Given the description of an element on the screen output the (x, y) to click on. 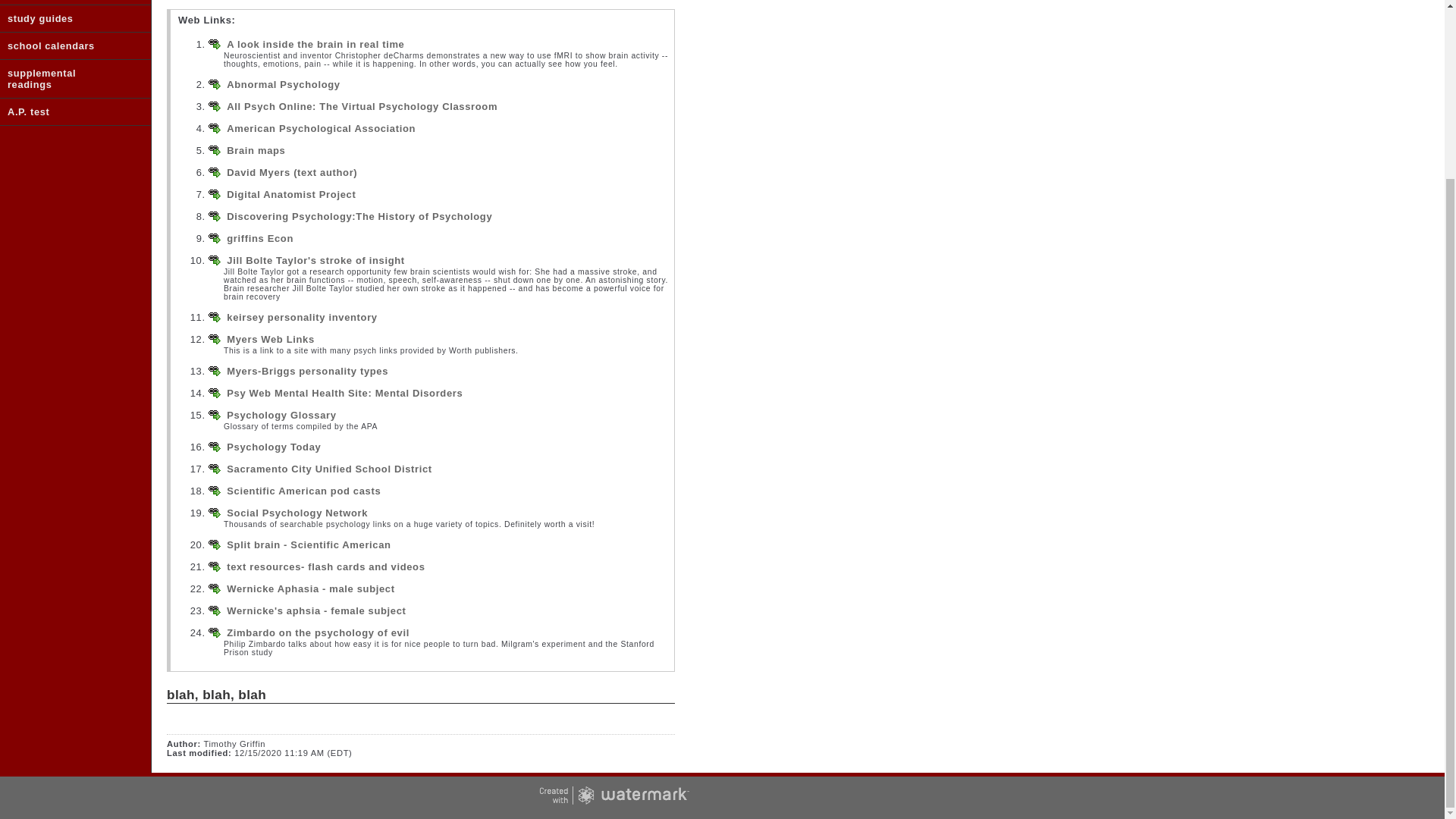
Abnormal Psychology (283, 84)
school calendars (64, 45)
Brain maps (256, 150)
Zimbardo on the psychology of evil (318, 632)
griffins Econ (260, 238)
Digital Anatomist Project (291, 194)
text resources- flash cards and videos (326, 566)
keirsey personality inventory (302, 317)
Sacramento City Unified School District (329, 469)
study guides (64, 17)
